Given the description of an element on the screen output the (x, y) to click on. 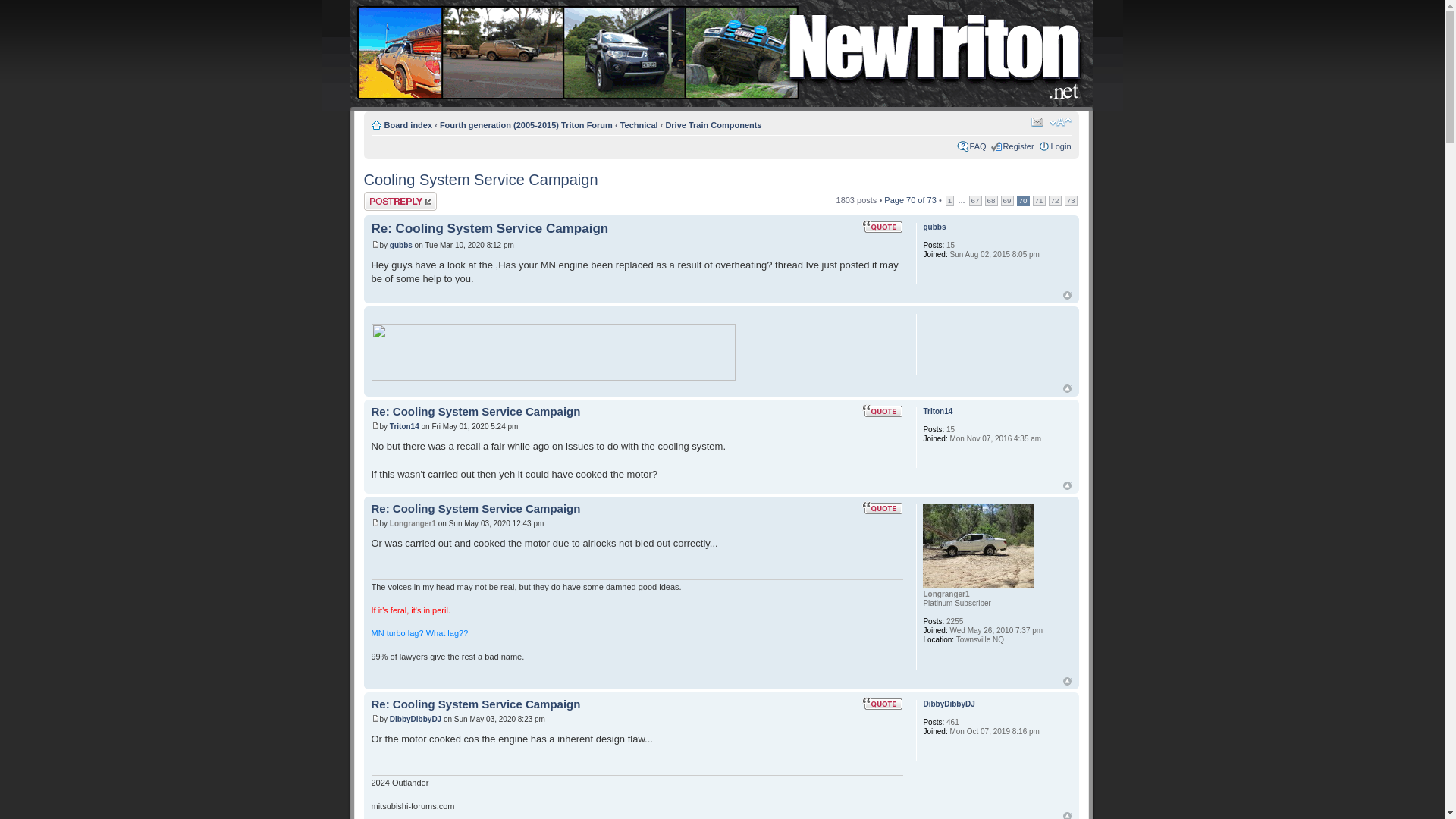
Top (1066, 388)
Technical (639, 124)
68 (991, 200)
Board index (408, 124)
Frequently Asked Questions (978, 145)
Register (1018, 145)
Post (375, 425)
Change font size (1060, 121)
Top (1066, 485)
Cooling System Service Campaign (481, 179)
